Given the description of an element on the screen output the (x, y) to click on. 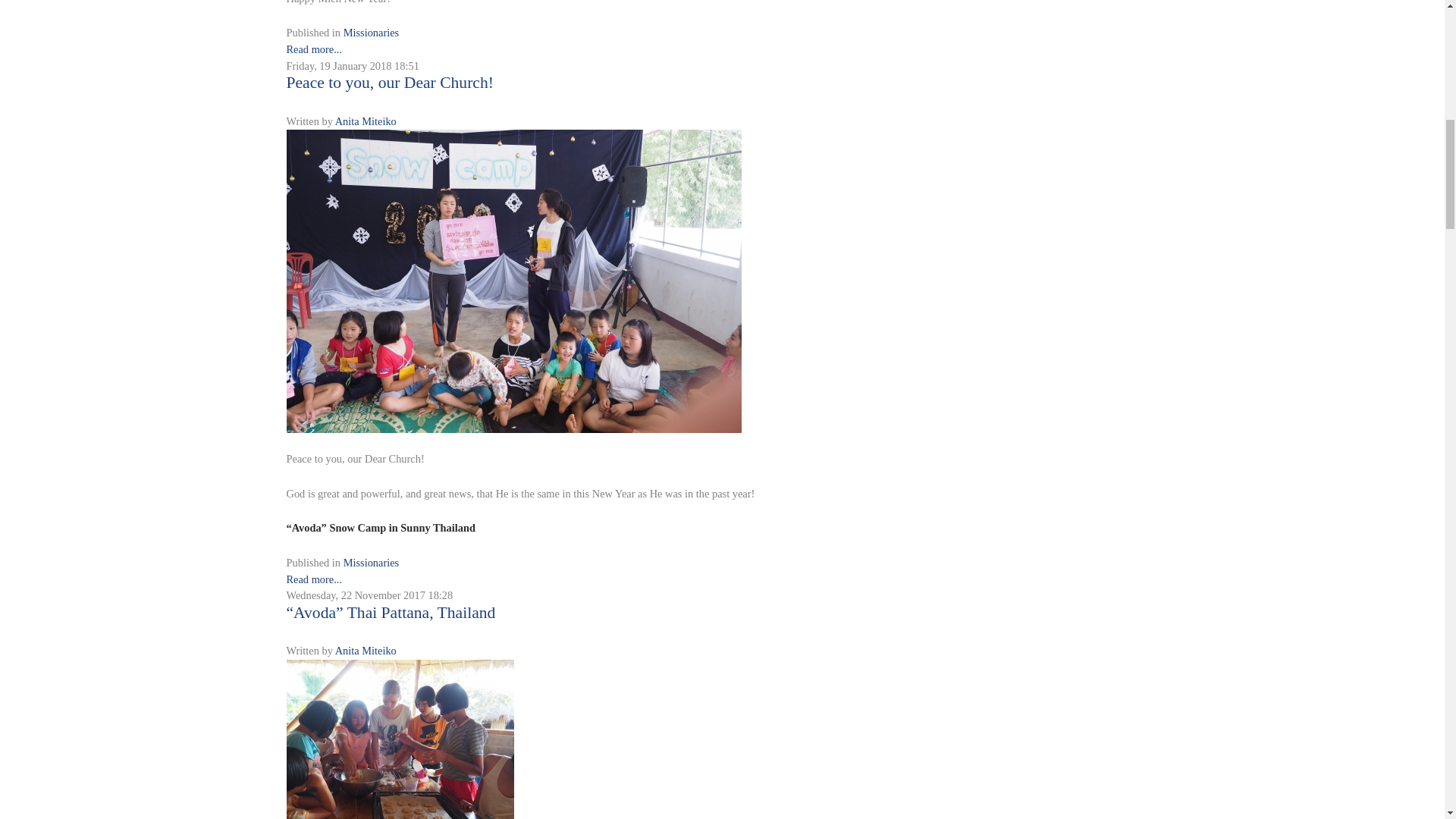
Peace to you, our Dear Church! (513, 279)
